Given the description of an element on the screen output the (x, y) to click on. 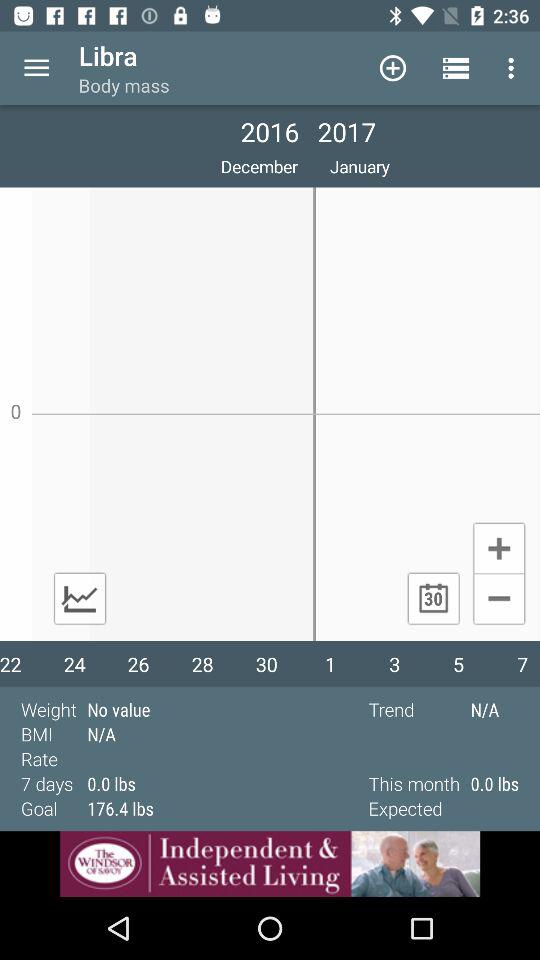
see advertisement (270, 864)
